Given the description of an element on the screen output the (x, y) to click on. 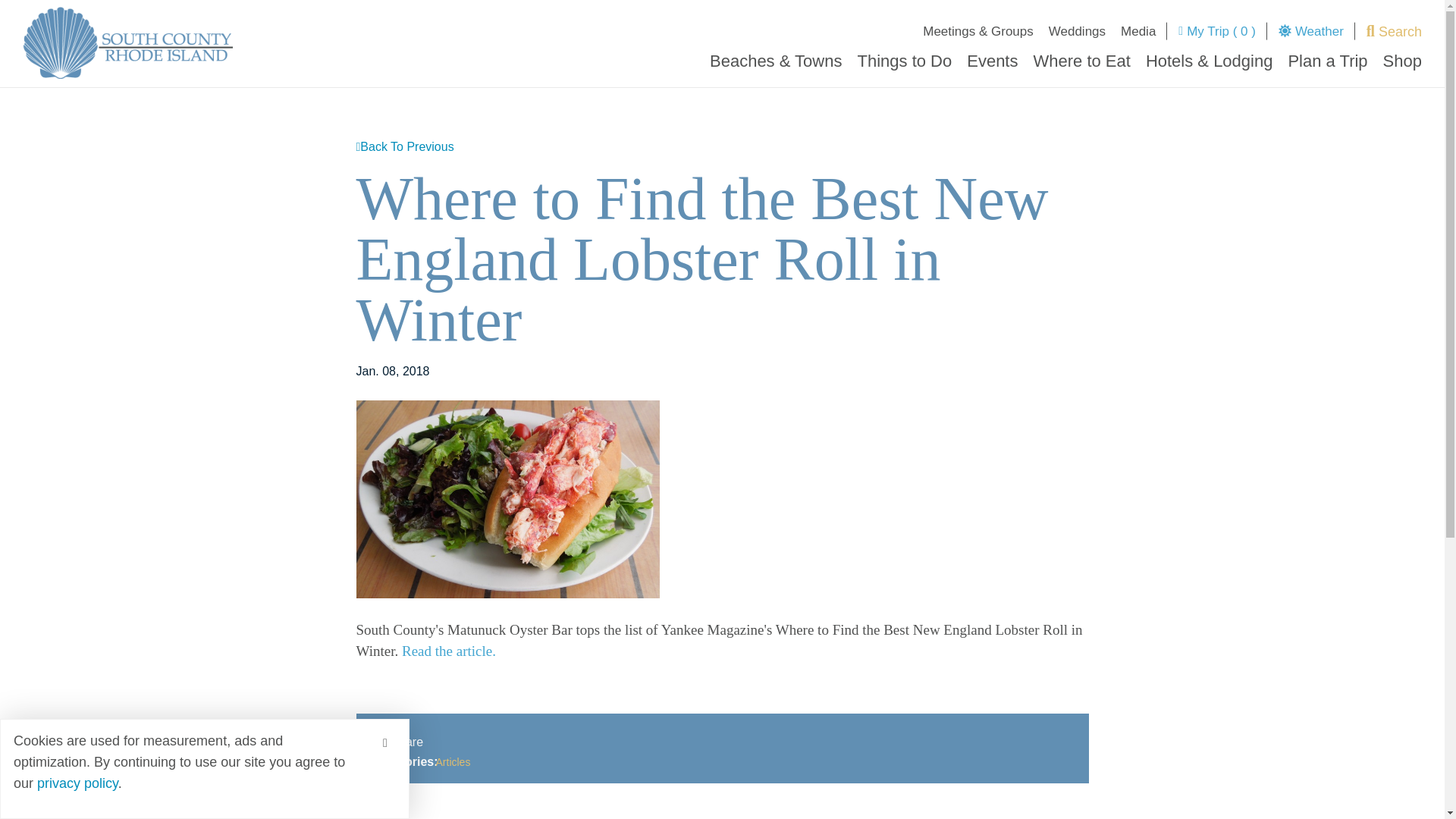
Weddings (1076, 34)
Media (1138, 34)
